Given the description of an element on the screen output the (x, y) to click on. 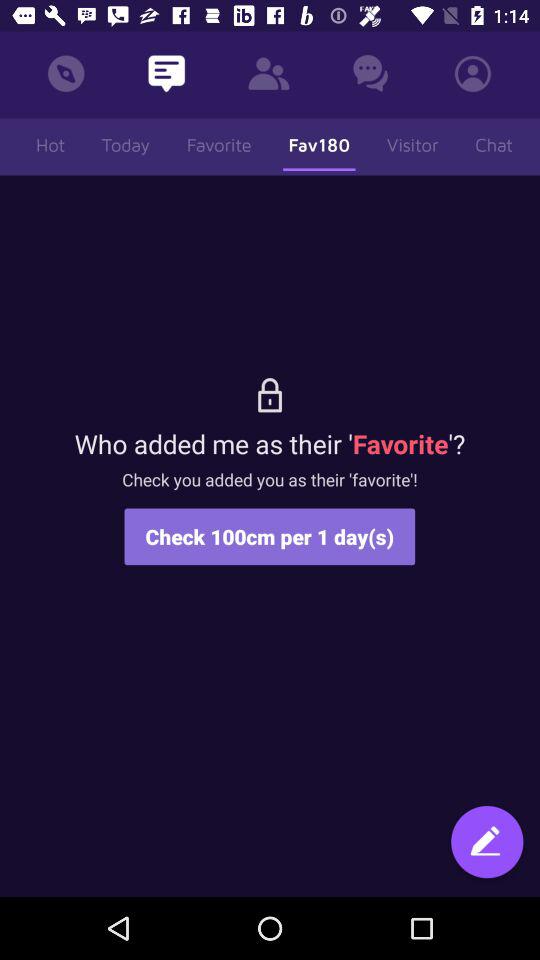
click icon below the check you added item (487, 844)
